Given the description of an element on the screen output the (x, y) to click on. 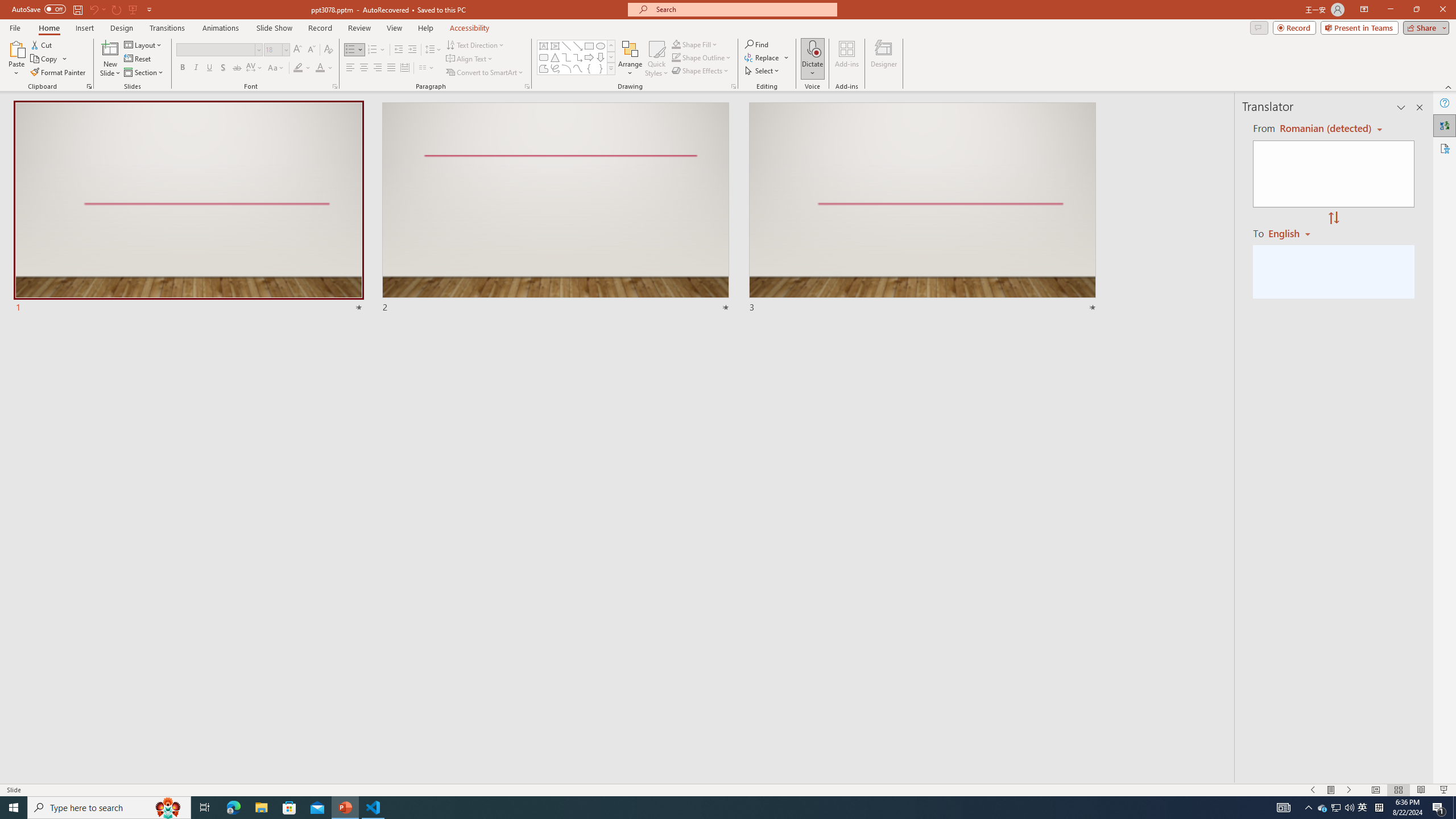
Text Highlight Color Yellow (297, 67)
Align Right (377, 67)
Layout (143, 44)
AutomationID: ShapesInsertGallery (576, 57)
Quick Styles (656, 58)
Line Spacing (433, 49)
Czech (detected) (1323, 128)
Slide Show Previous On (1313, 790)
